Given the description of an element on the screen output the (x, y) to click on. 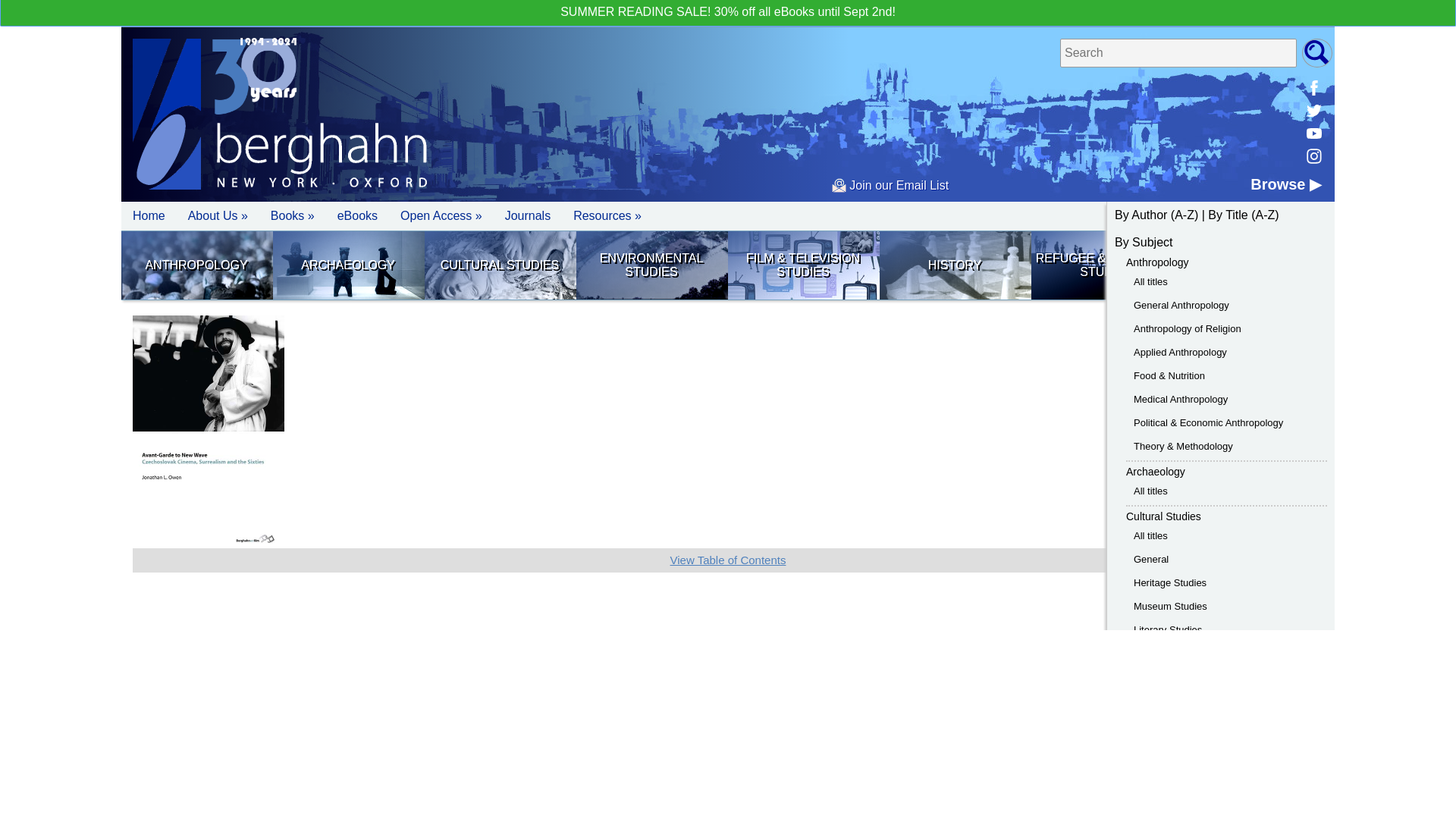
All titles (1150, 490)
Archaeology (348, 264)
Medical Anthropology (1180, 398)
Join our Email List (890, 185)
Sociology (1258, 264)
History (954, 264)
Environmental Studies (651, 265)
Anthropology of Religion (1187, 328)
Browse (1285, 184)
General Anthropology (1181, 305)
Berghahn Books on Facebook (1313, 87)
Archaeology (1155, 471)
go (1316, 52)
General (1151, 559)
go (1316, 52)
